Given the description of an element on the screen output the (x, y) to click on. 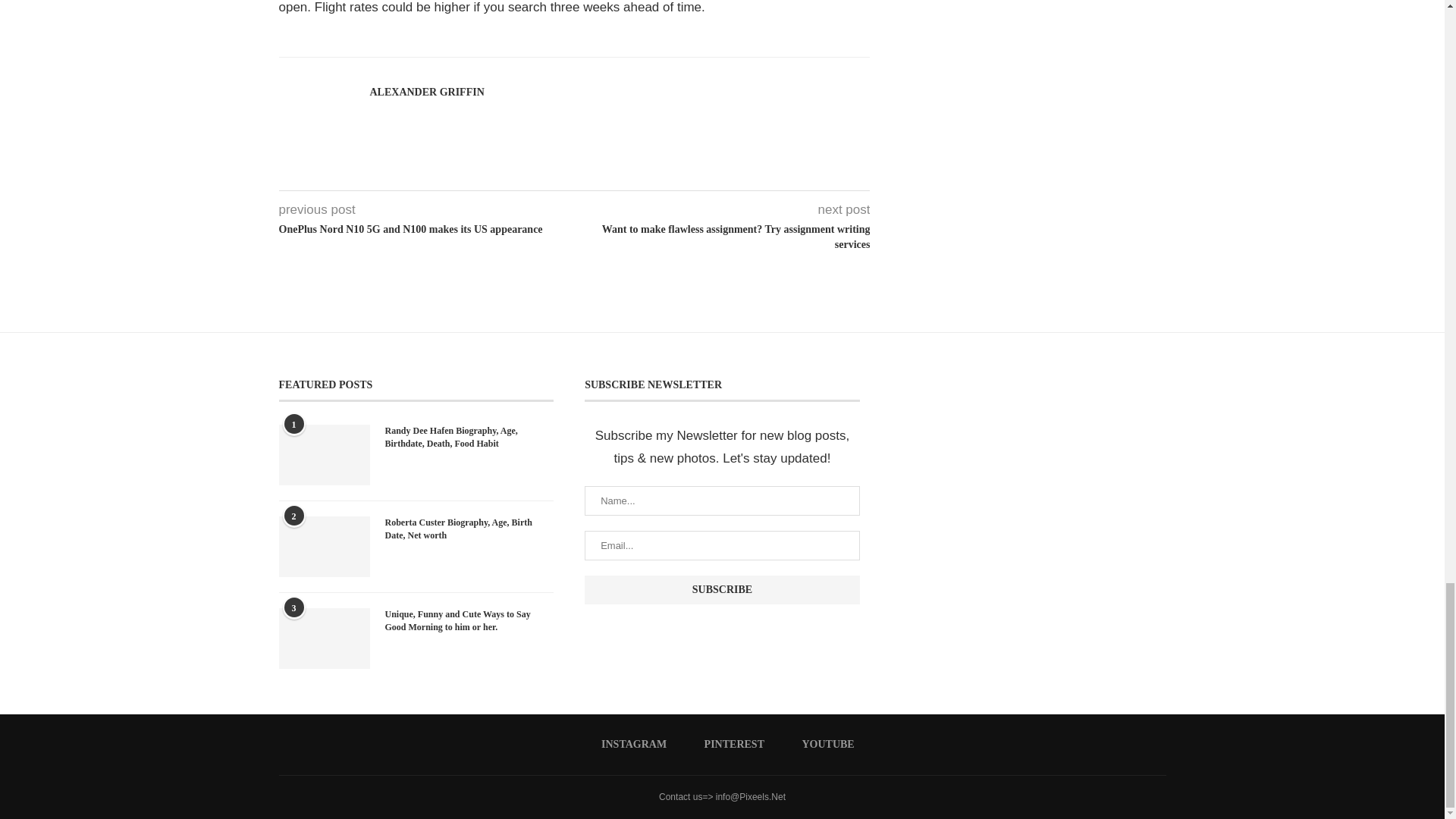
Author Alexander Griffin (426, 92)
Subscribe (722, 589)
Randy Dee Hafen Biography, Age, Birthdate, Death, Food Habit (324, 455)
Randy Dee Hafen Biography, Age, Birthdate, Death, Food Habit (469, 437)
Roberta Custer Biography, Age, Birth Date, Net worth (324, 546)
Roberta Custer Biography, Age, Birth Date, Net worth (469, 529)
ALEXANDER GRIFFIN (426, 92)
INSTAGRAM (627, 744)
OnePlus Nord N10 5G and N100 makes its US appearance (427, 229)
Subscribe (722, 589)
Roberta Custer Biography, Age, Birth Date, Net worth (469, 529)
PINTEREST (728, 744)
